Given the description of an element on the screen output the (x, y) to click on. 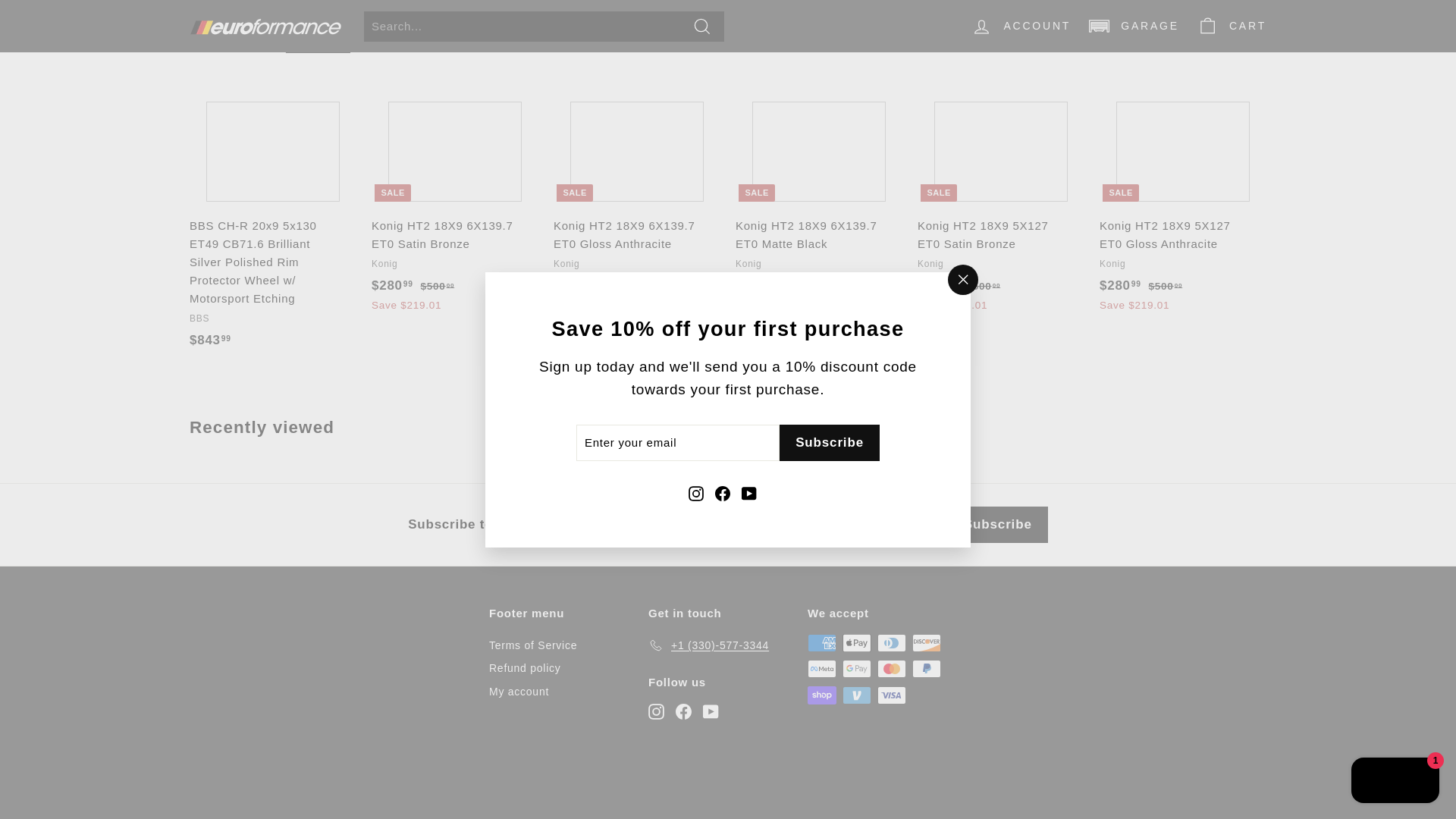
Meta Pay (821, 669)
Mastercard (891, 669)
Shop Pay (821, 695)
Discover (926, 642)
Google Pay (856, 669)
American Express (821, 642)
Apple Pay (856, 642)
Diners Club (891, 642)
Venmo (856, 695)
PayPal (926, 669)
